Given the description of an element on the screen output the (x, y) to click on. 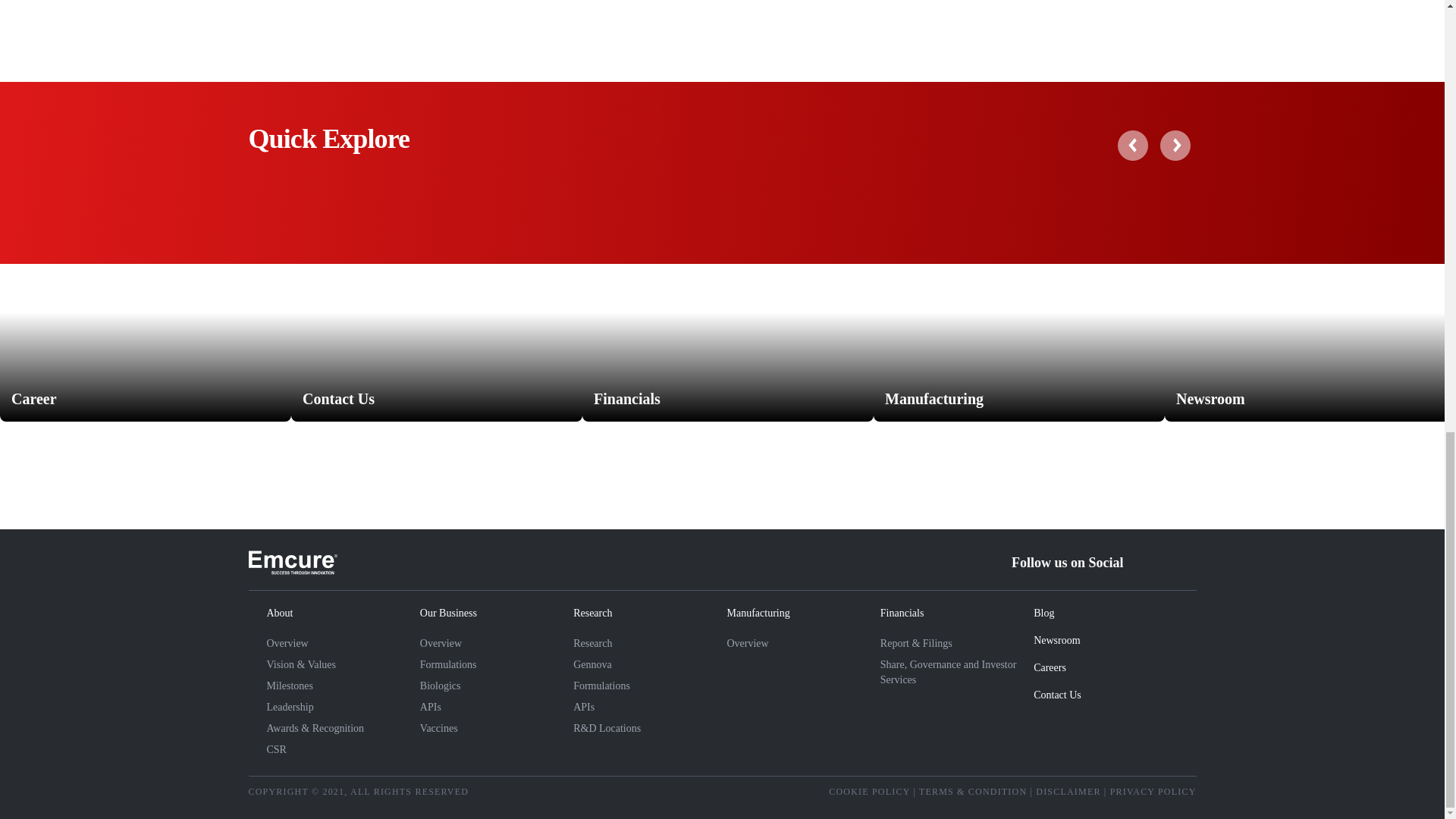
Financials (727, 312)
Career (145, 312)
Contact Us (436, 312)
Manufacturing (1018, 312)
